Given the description of an element on the screen output the (x, y) to click on. 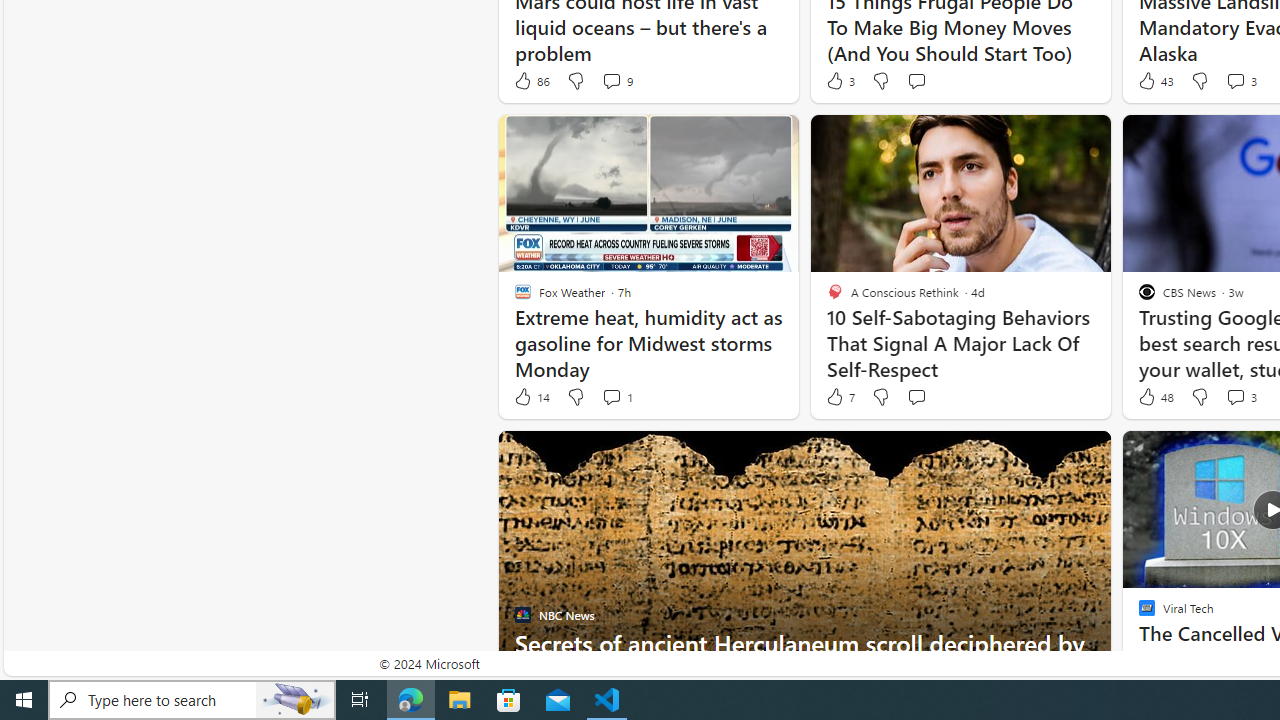
View comments 1 Comment (611, 396)
43 Like (1154, 80)
48 Like (1154, 397)
